Given the description of an element on the screen output the (x, y) to click on. 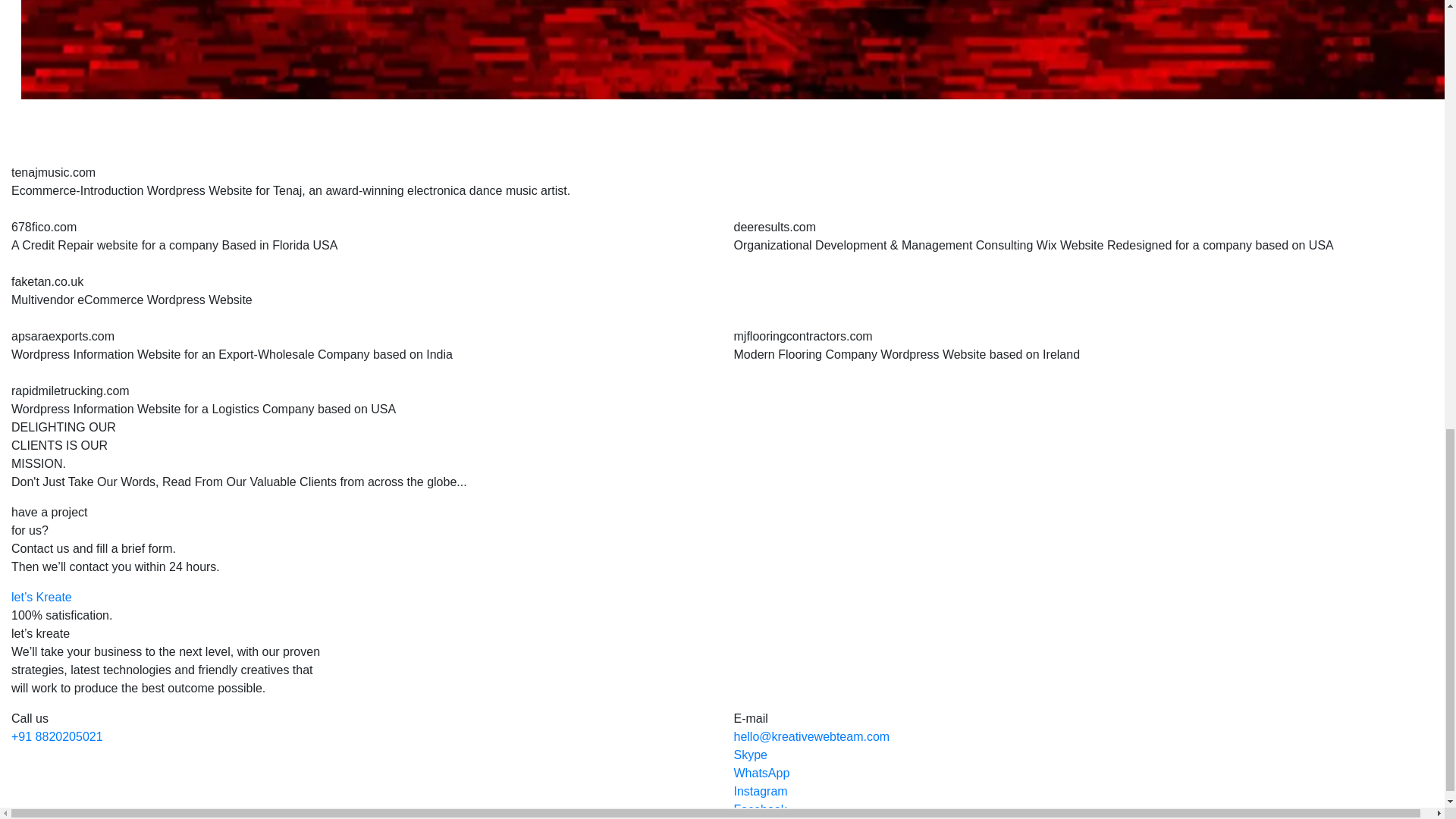
WhatsApp (761, 772)
Instagram (760, 790)
Facebook (760, 809)
Skype (750, 754)
